Given the description of an element on the screen output the (x, y) to click on. 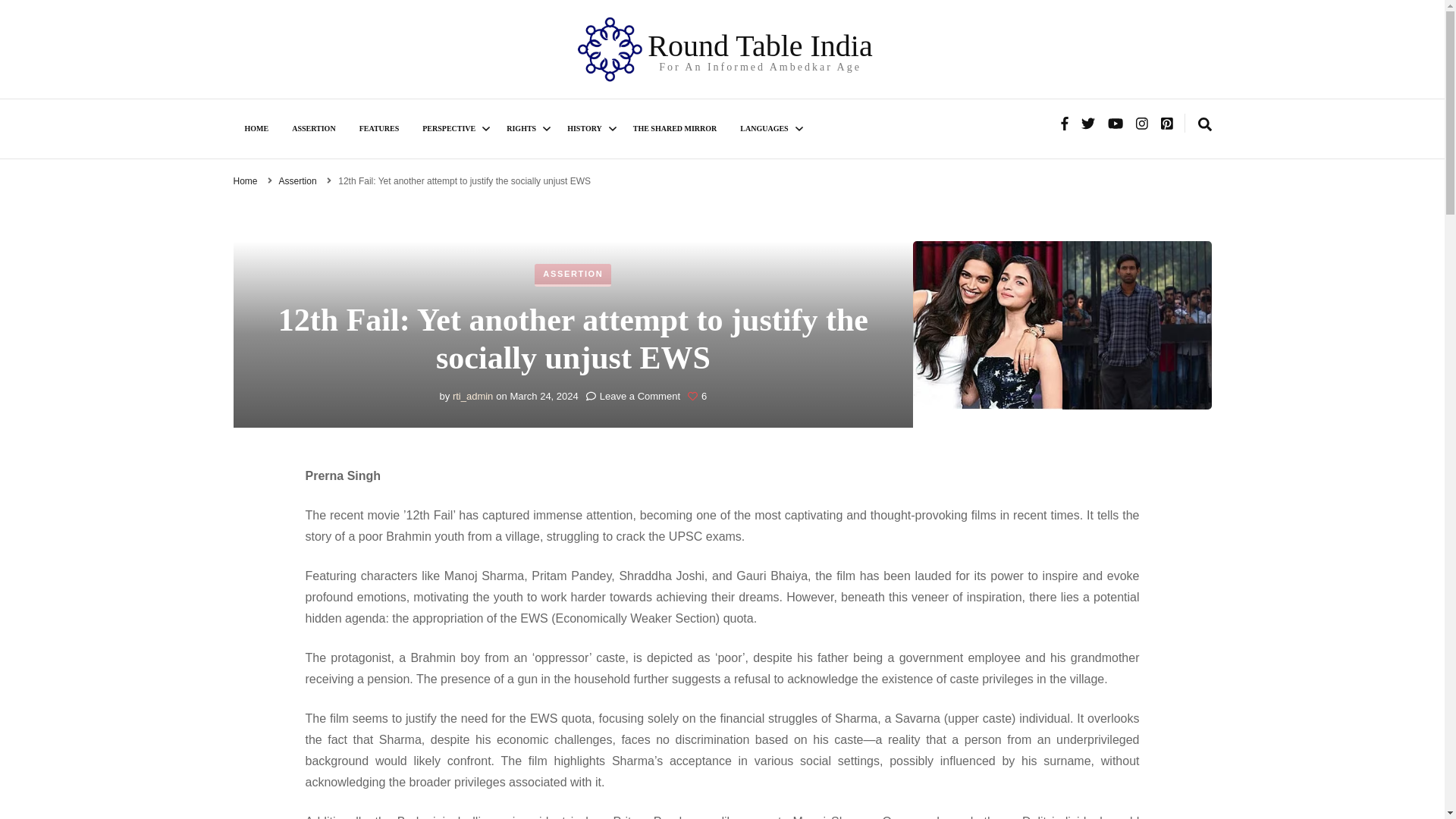
Round Table India (759, 45)
RIGHTS (524, 128)
ATROCITIES (578, 192)
PERSPECTIVE (452, 128)
LANGUAGES (767, 128)
DALITBAHUJAN RENAISSANCE (639, 192)
GENDER (494, 192)
ASSERTION (313, 128)
THE SHARED MIRROR (675, 128)
HISTORY (588, 128)
MARATHI (812, 192)
FEATURES (378, 128)
